Given the description of an element on the screen output the (x, y) to click on. 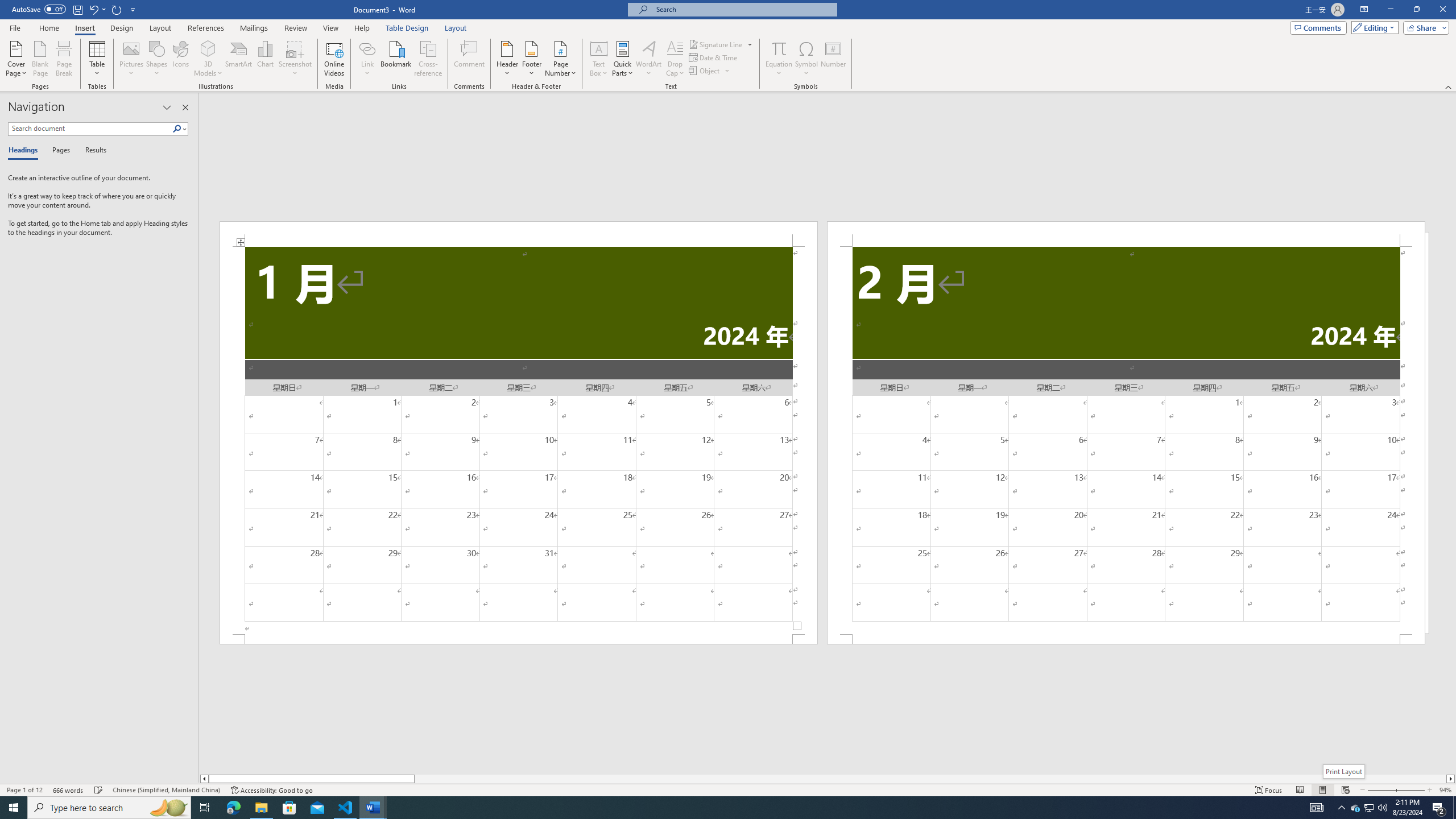
Undo Increase Indent (92, 9)
Blank Page (40, 58)
Search document (89, 128)
Quick Parts (622, 58)
Header -Section 2- (1126, 233)
Spelling and Grammar Check Checking (98, 790)
Header (507, 58)
Page Break (63, 58)
